Given the description of an element on the screen output the (x, y) to click on. 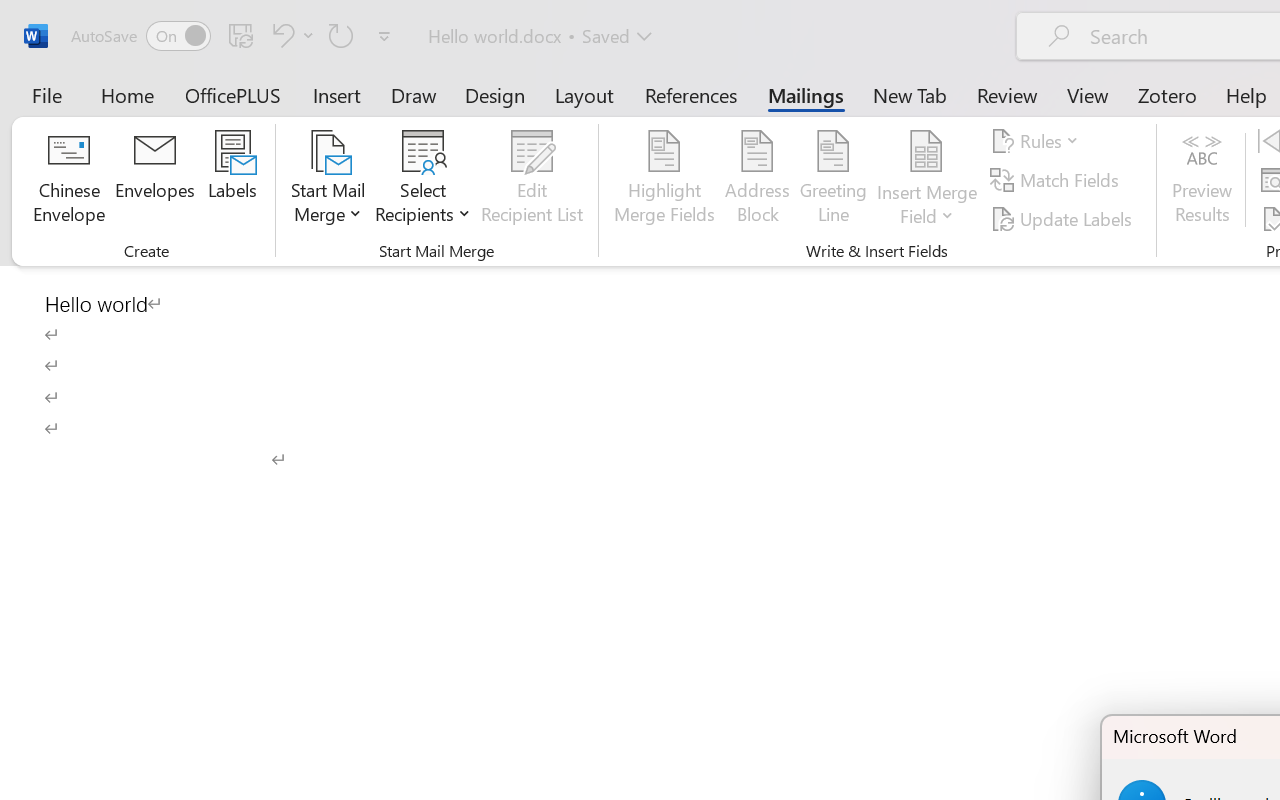
More Options (927, 208)
Address Block... (757, 179)
Zotero (1166, 94)
Undo Click and Type Formatting (290, 35)
Labels... (232, 179)
Draw (413, 94)
Select Recipients (423, 179)
Match Fields... (1057, 179)
